Given the description of an element on the screen output the (x, y) to click on. 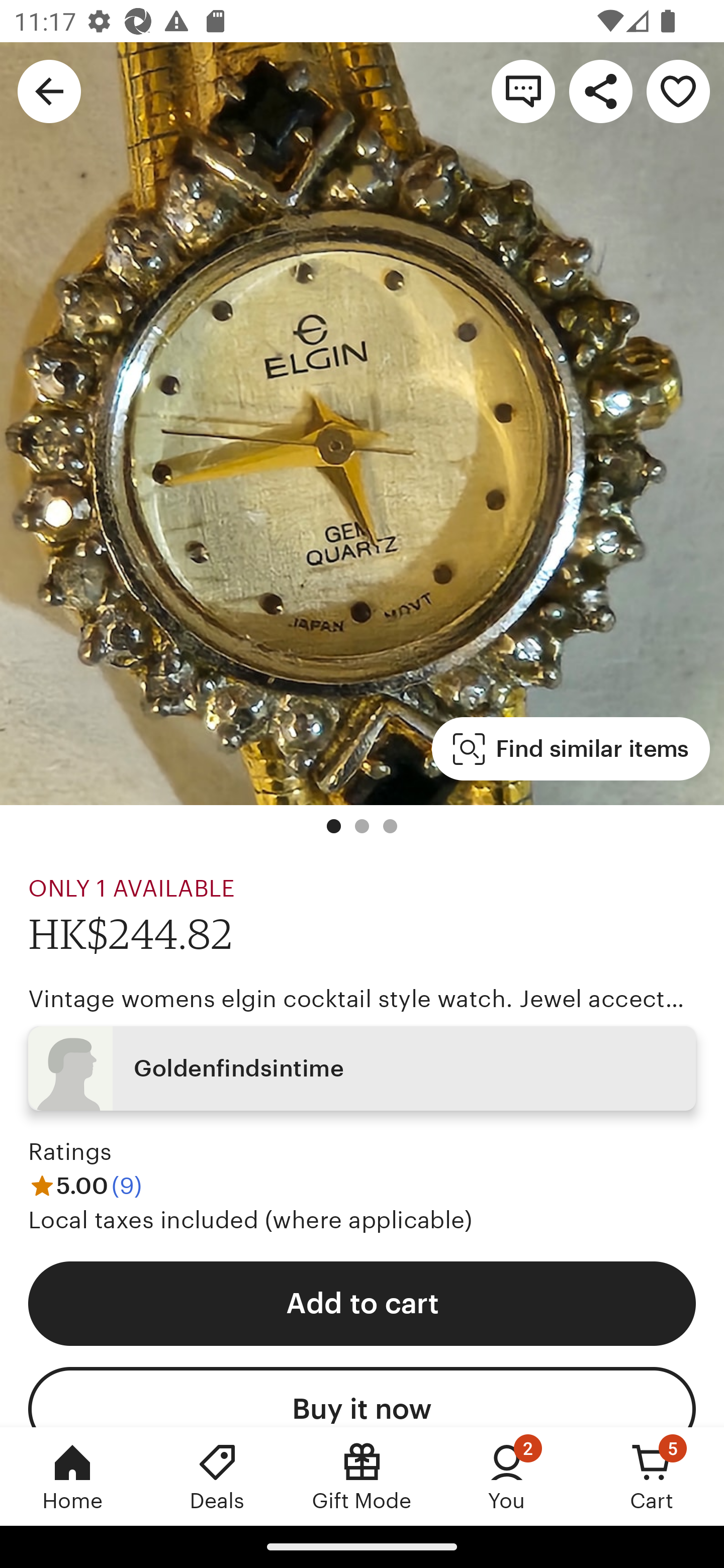
Navigate up (49, 90)
Contact shop (523, 90)
Share (600, 90)
Find similar items (571, 748)
Goldenfindsintime (361, 1067)
Ratings (70, 1151)
5.00 (9) (85, 1185)
Add to cart (361, 1302)
Buy it now (361, 1396)
Deals (216, 1475)
Gift Mode (361, 1475)
You, 2 new notifications You (506, 1475)
Cart, 5 new notifications Cart (651, 1475)
